Given the description of an element on the screen output the (x, y) to click on. 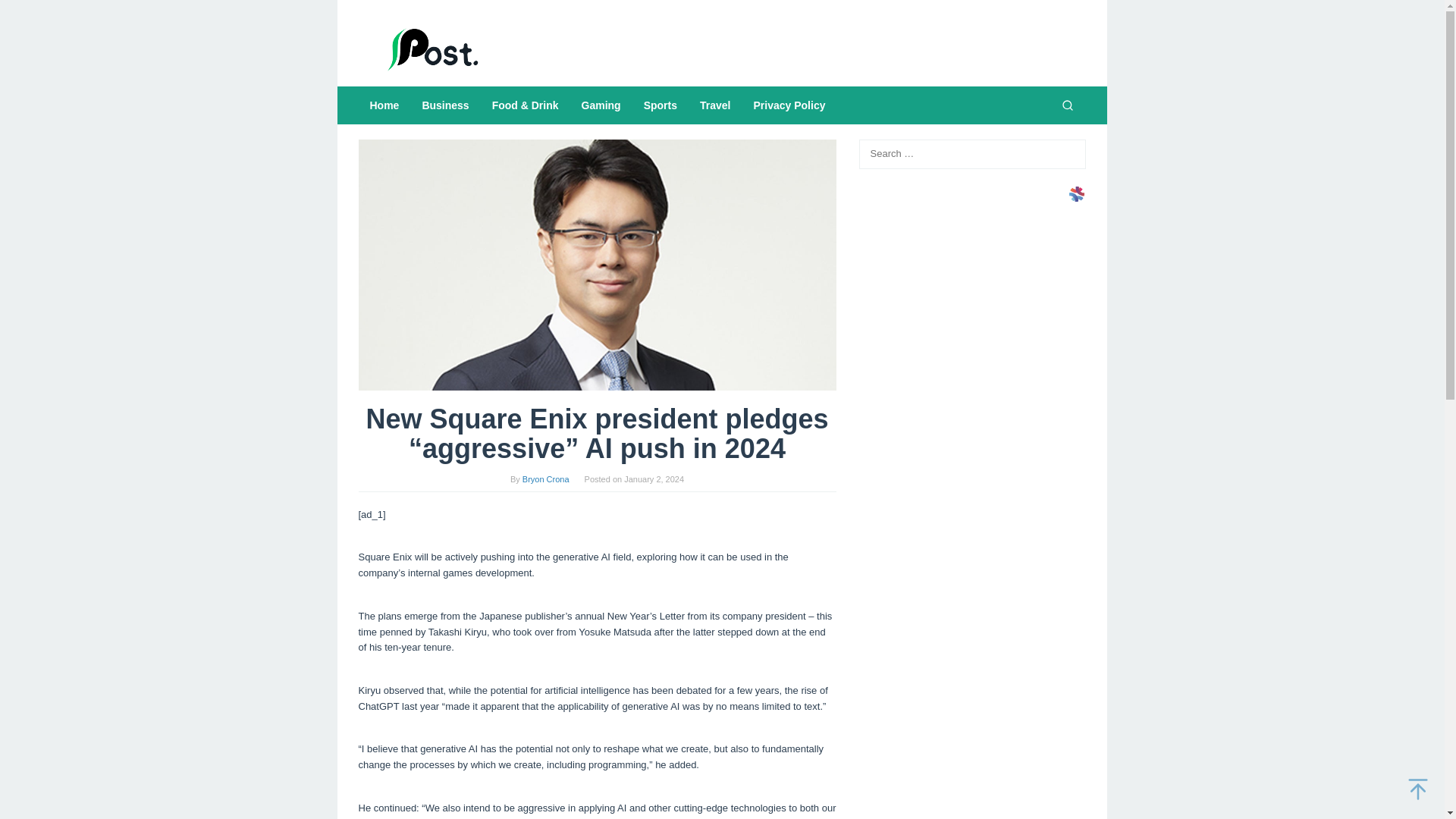
Travel (714, 105)
Home (384, 105)
Sports (659, 105)
Privacy Policy (788, 105)
SNAPOST (433, 48)
SNAPOST (433, 48)
Bryon Crona (545, 479)
Gaming (600, 105)
Search (26, 14)
Home (384, 105)
Business (445, 105)
Search (1067, 105)
Permalink to: Bryon Crona (545, 479)
